Given the description of an element on the screen output the (x, y) to click on. 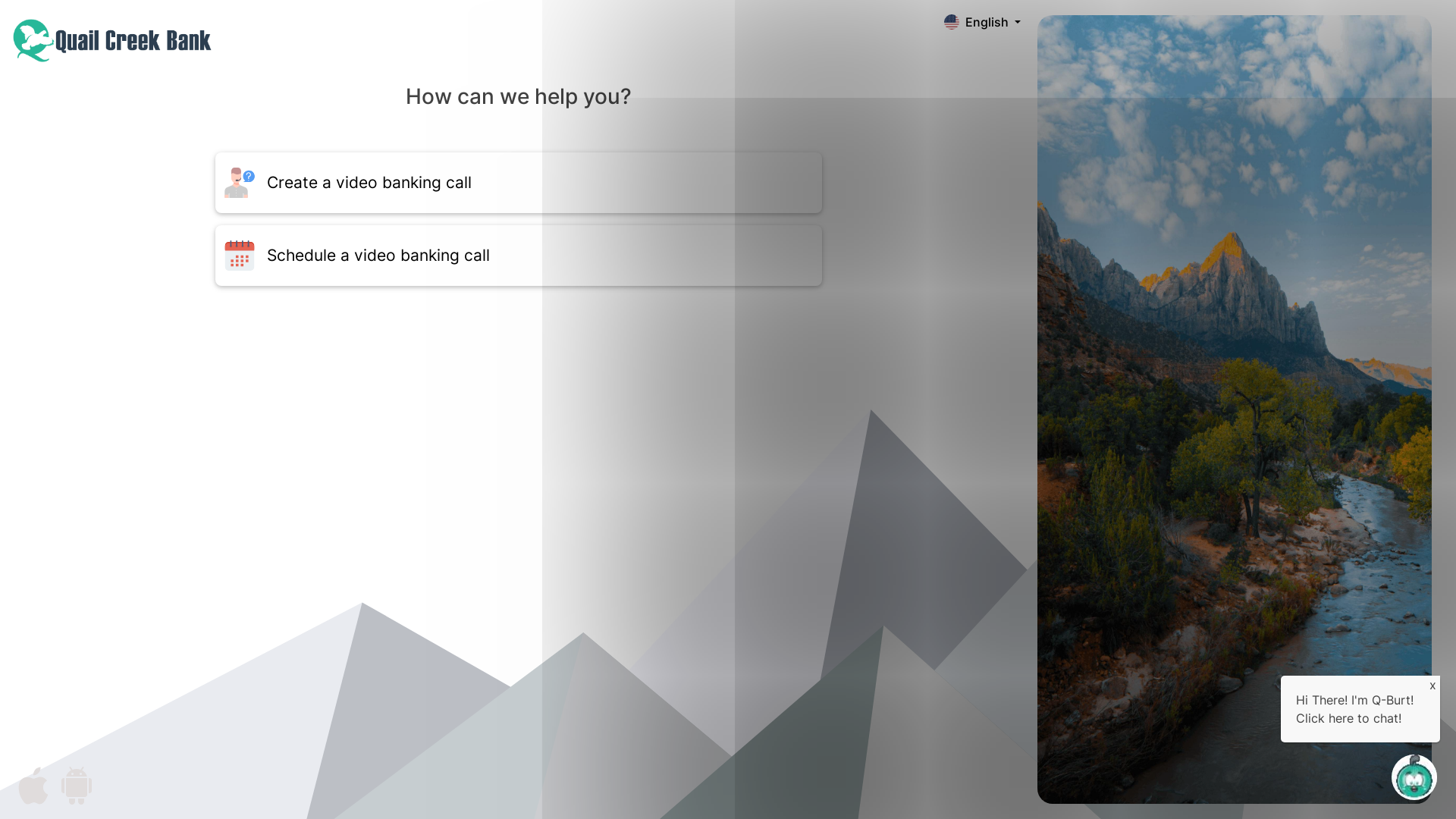
Create a video banking call Element type: text (518, 181)
Schedule a video banking call Element type: text (518, 254)
x Element type: text (1432, 684)
English Element type: text (982, 21)
